Given the description of an element on the screen output the (x, y) to click on. 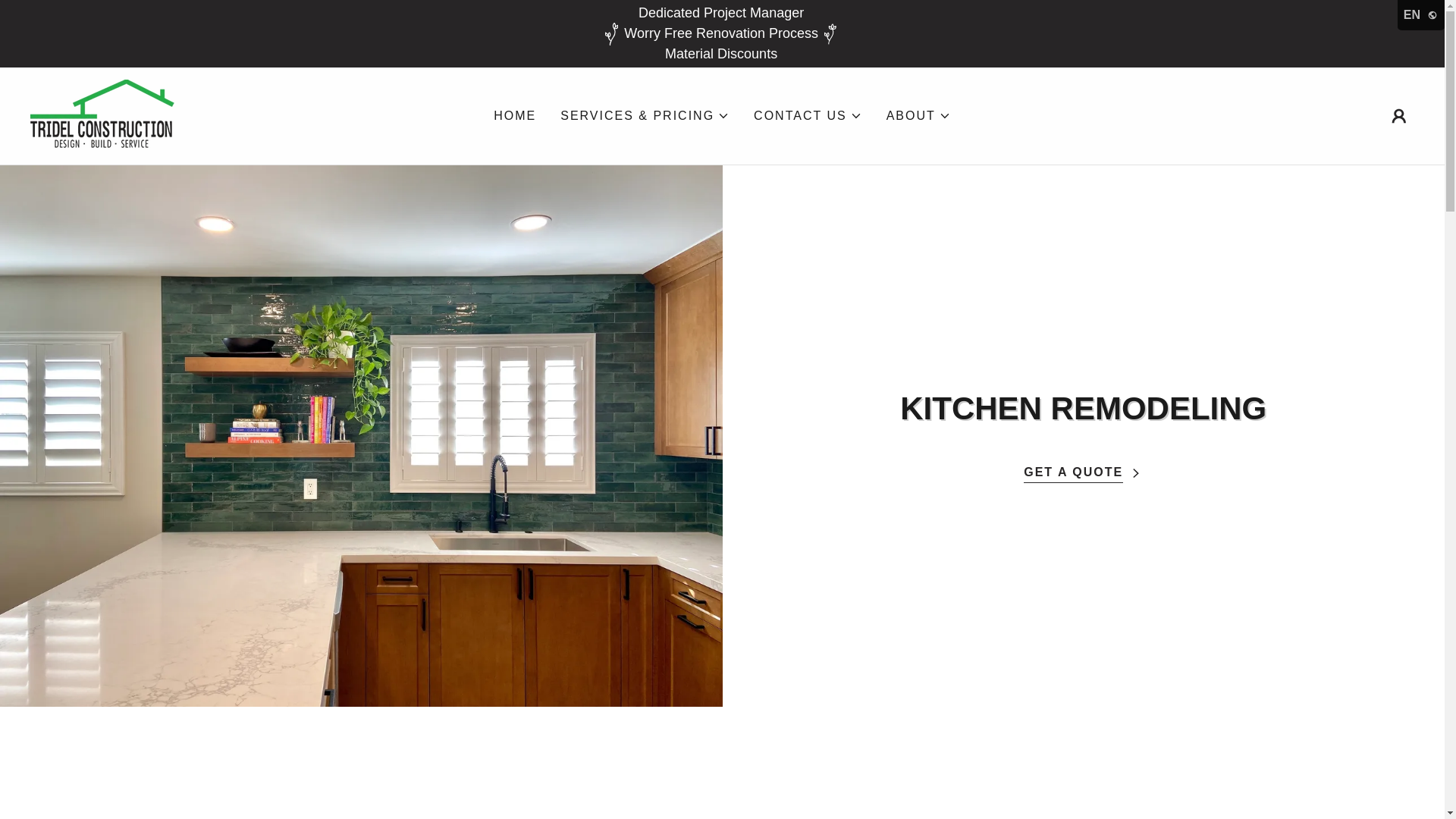
HOME (514, 115)
ABOUT (918, 116)
Tridel Construction  (102, 114)
CONTACT US (807, 116)
